Given the description of an element on the screen output the (x, y) to click on. 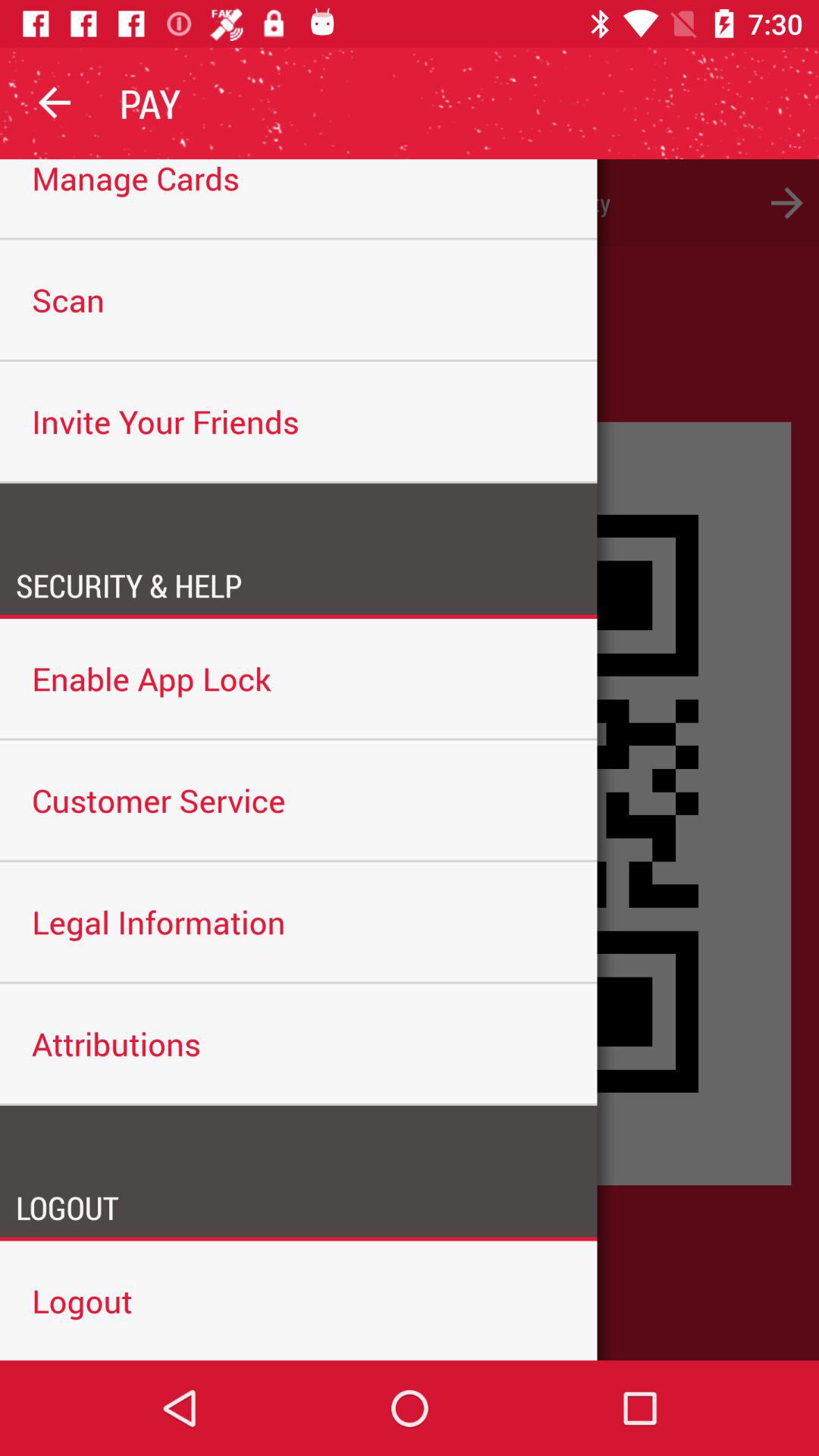
flip until the invite your friends icon (298, 421)
